Given the description of an element on the screen output the (x, y) to click on. 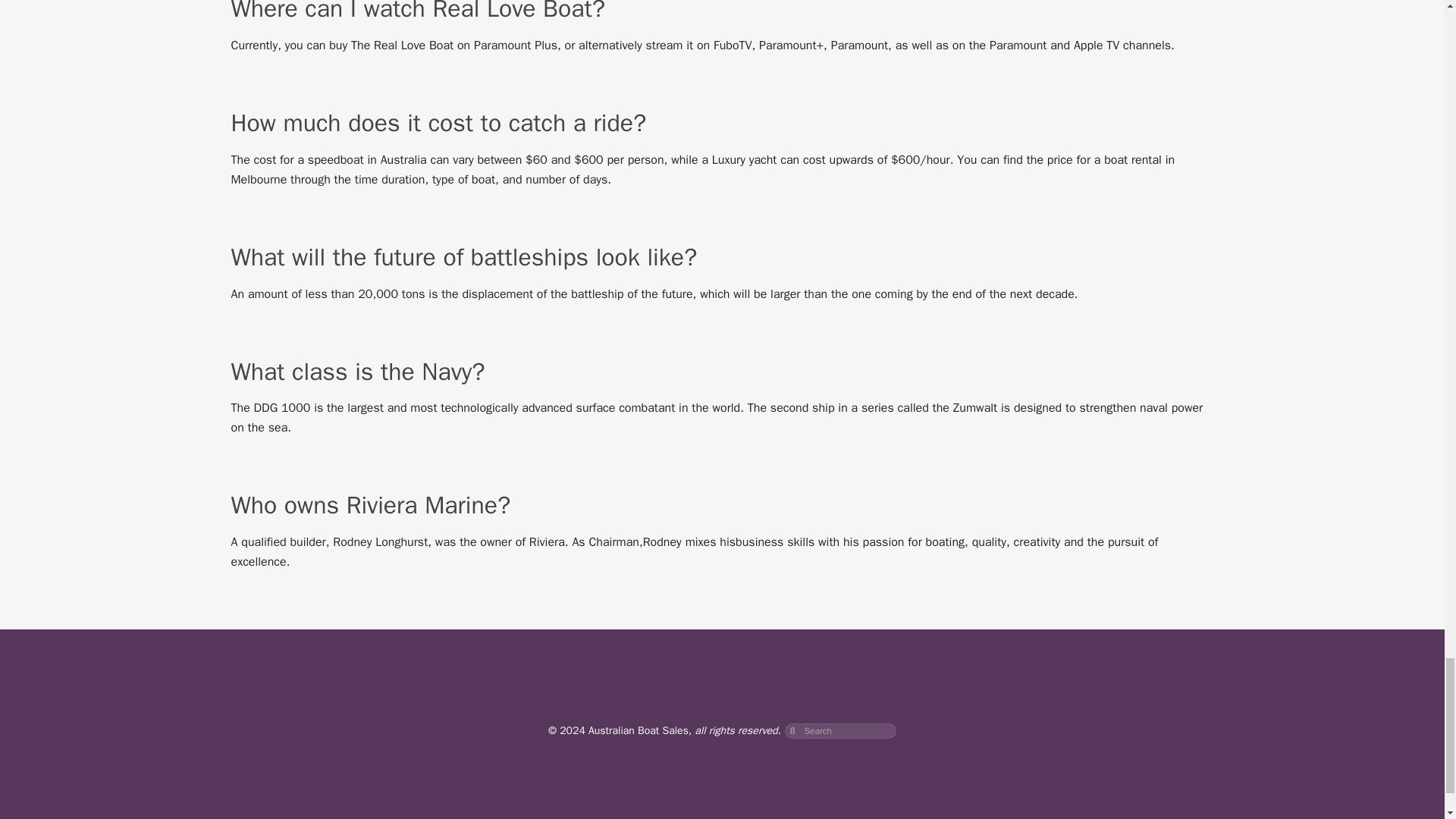
Australian Boat Sales (638, 730)
